Given the description of an element on the screen output the (x, y) to click on. 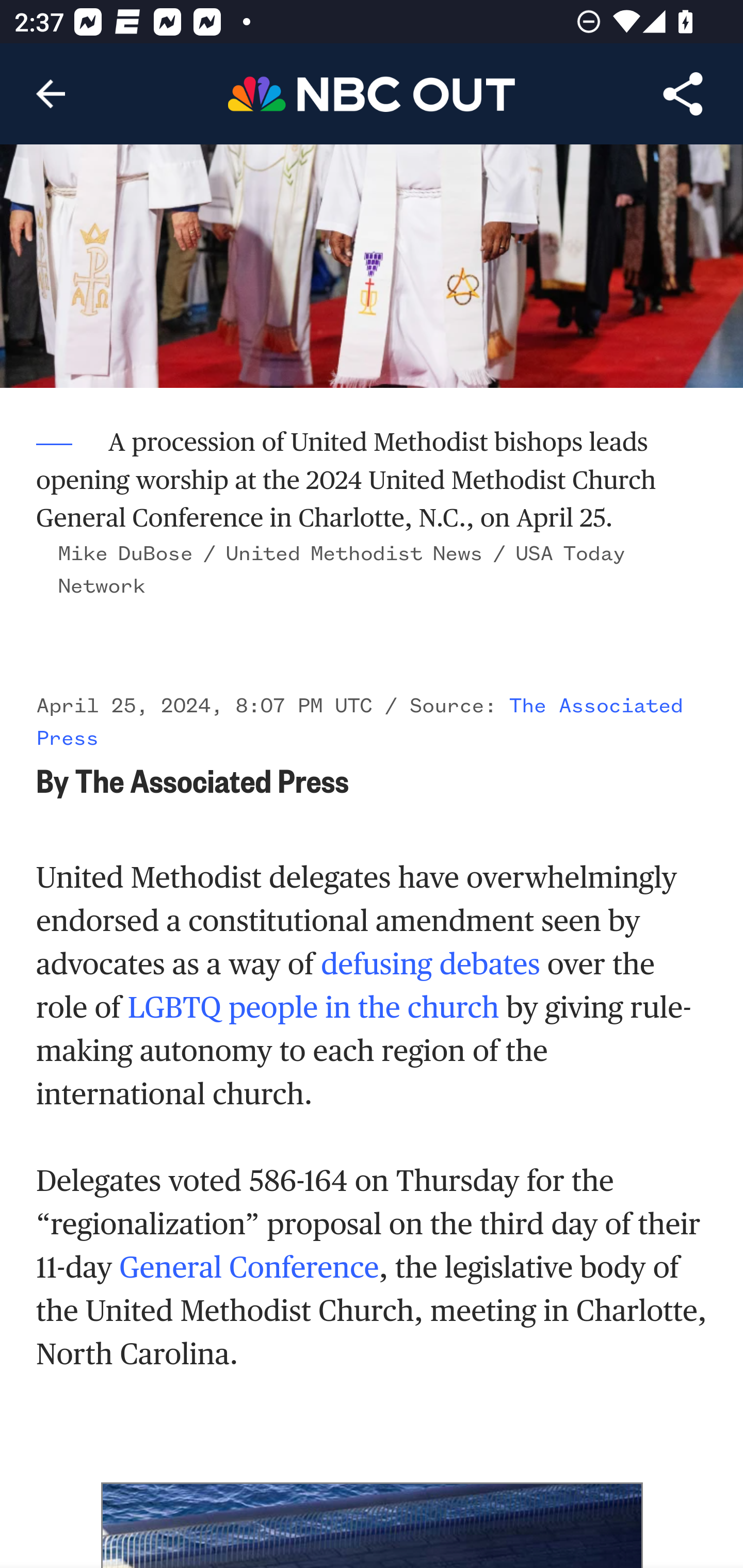
Navigate up (50, 93)
Share Article, button (683, 94)
Header, NBC Out (371, 93)
The Associated Press (360, 722)
defusing debates (430, 965)
LGBTQ people in the church (313, 1008)
General Conference (249, 1269)
